Given the description of an element on the screen output the (x, y) to click on. 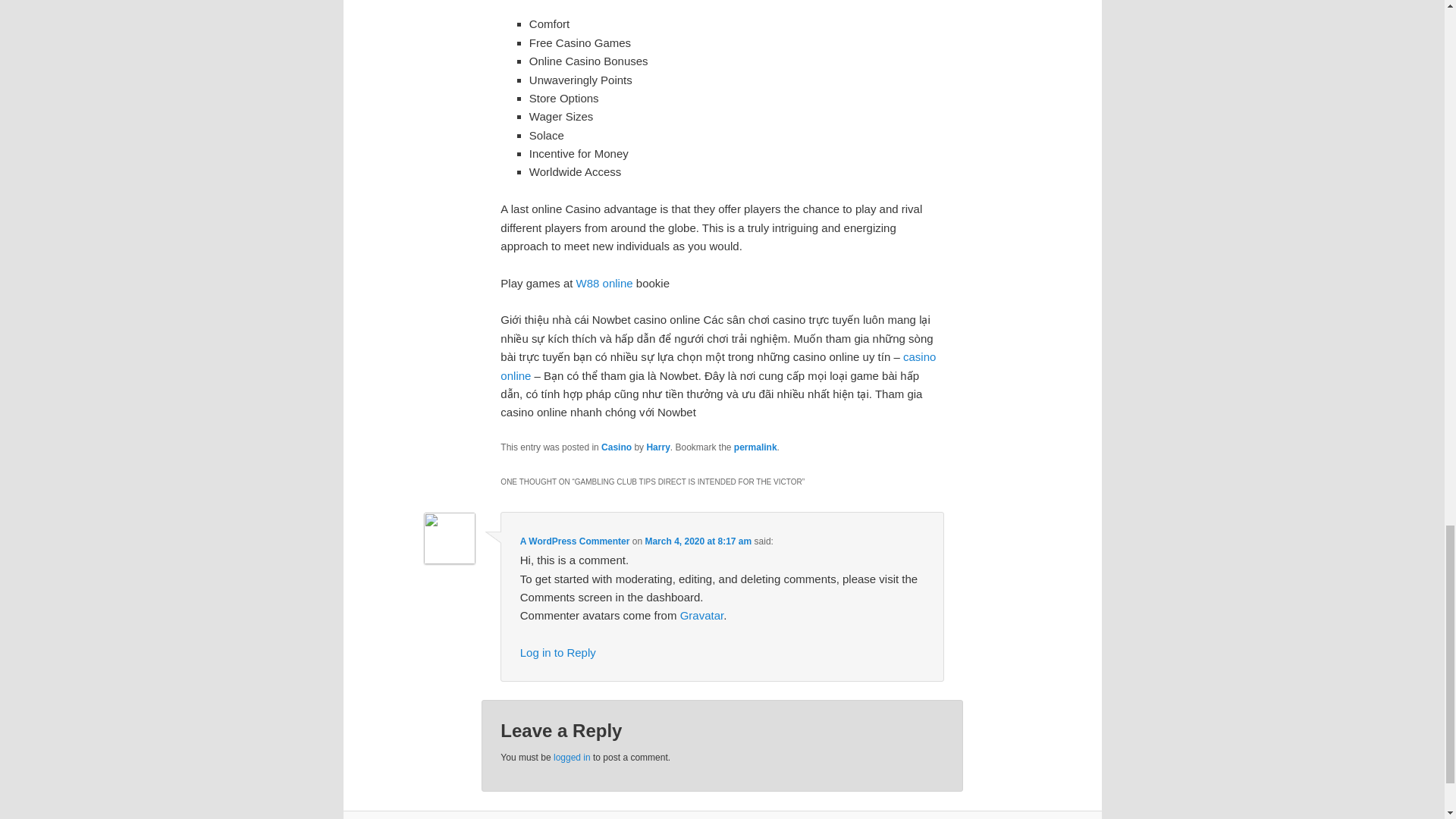
permalink (755, 447)
logged in (572, 757)
A WordPress Commenter (574, 541)
Harry (657, 447)
W88 online (604, 282)
Gravatar (701, 615)
casino online (718, 365)
Casino (616, 447)
Log in to Reply (557, 652)
March 4, 2020 at 8:17 am (698, 541)
